Given the description of an element on the screen output the (x, y) to click on. 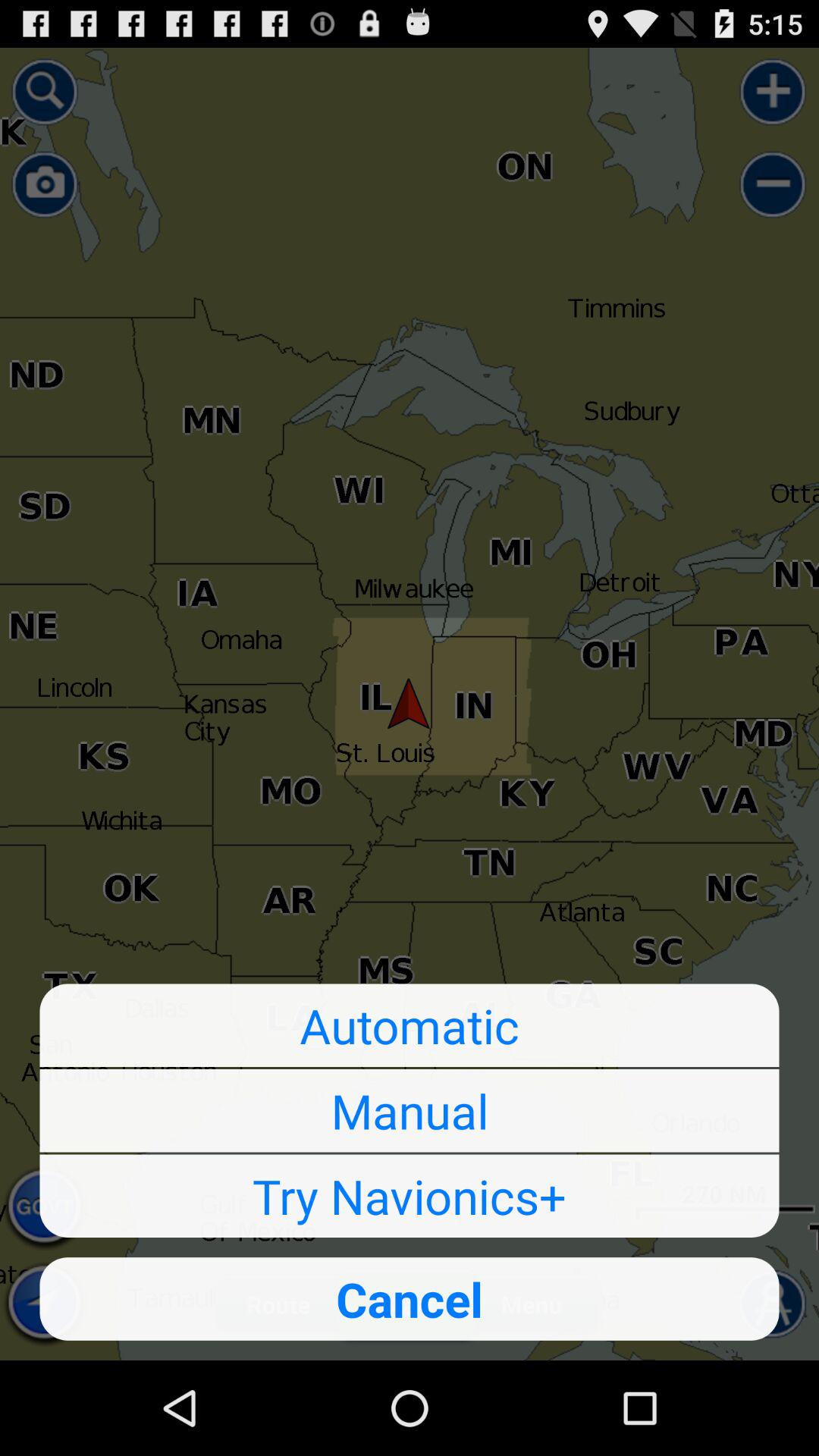
choose cancel button (409, 1298)
